Given the description of an element on the screen output the (x, y) to click on. 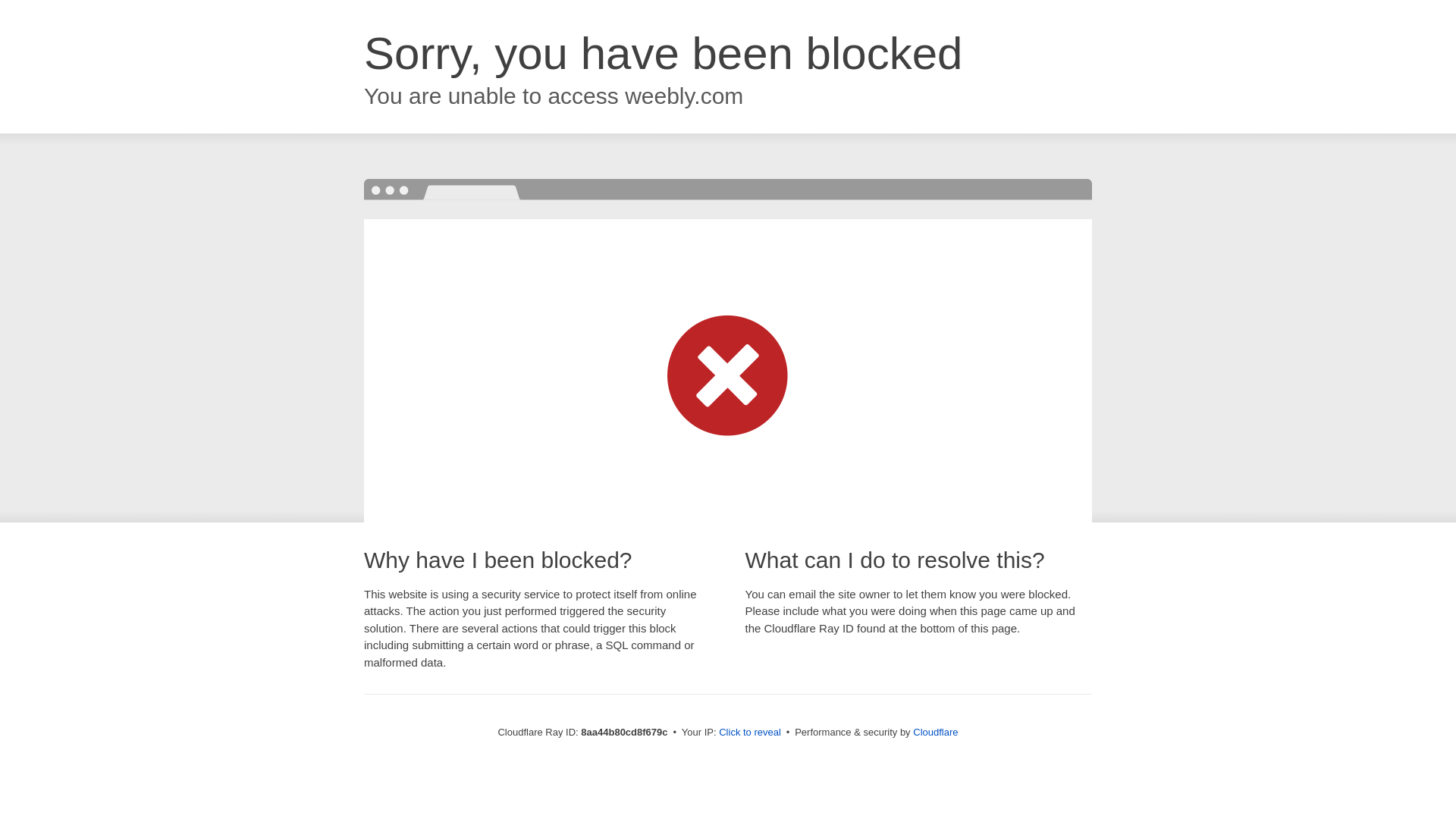
Cloudflare (935, 731)
Click to reveal (749, 732)
